Given the description of an element on the screen output the (x, y) to click on. 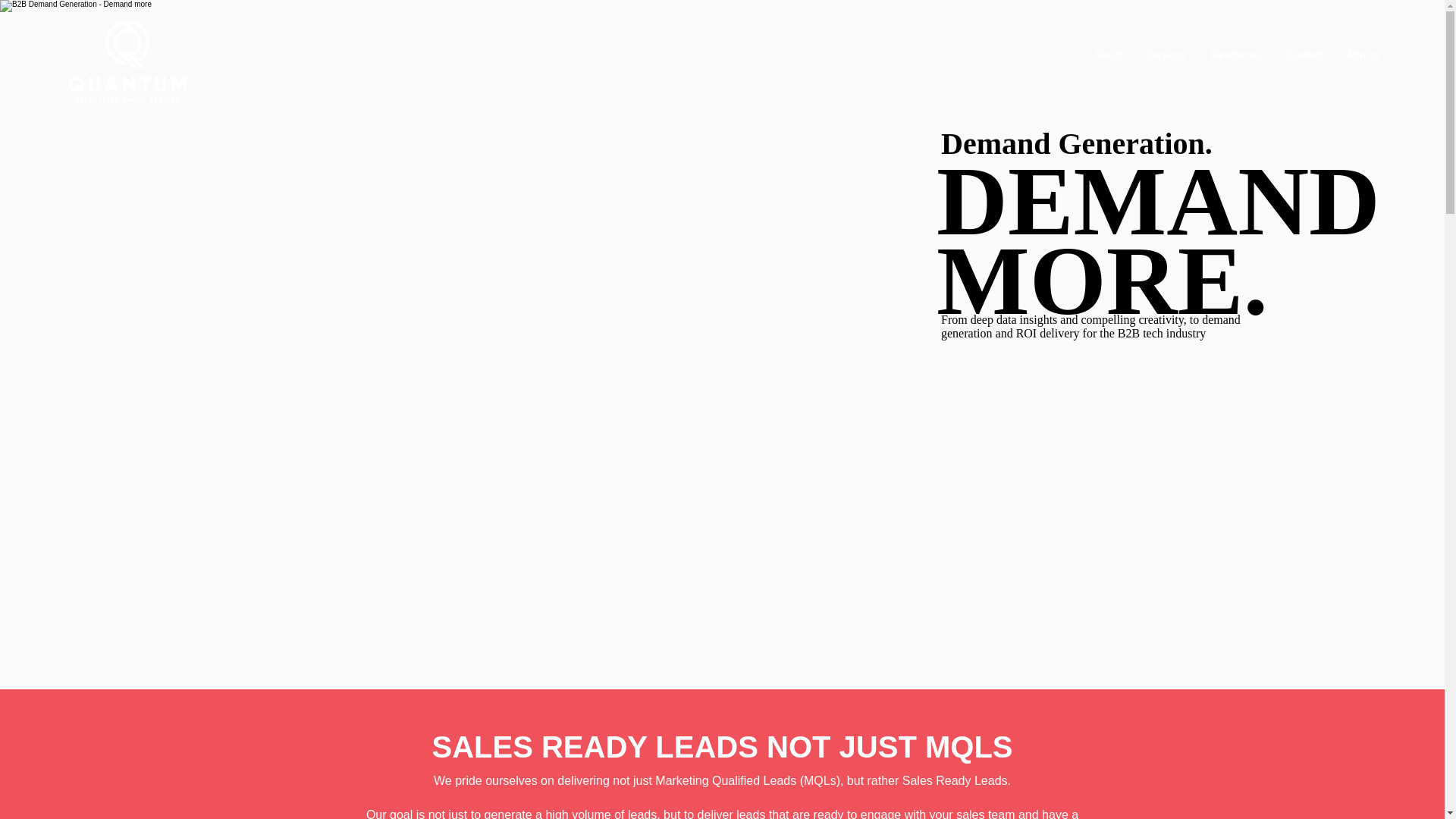
Contact (1305, 54)
Join us (1363, 54)
